Given the description of an element on the screen output the (x, y) to click on. 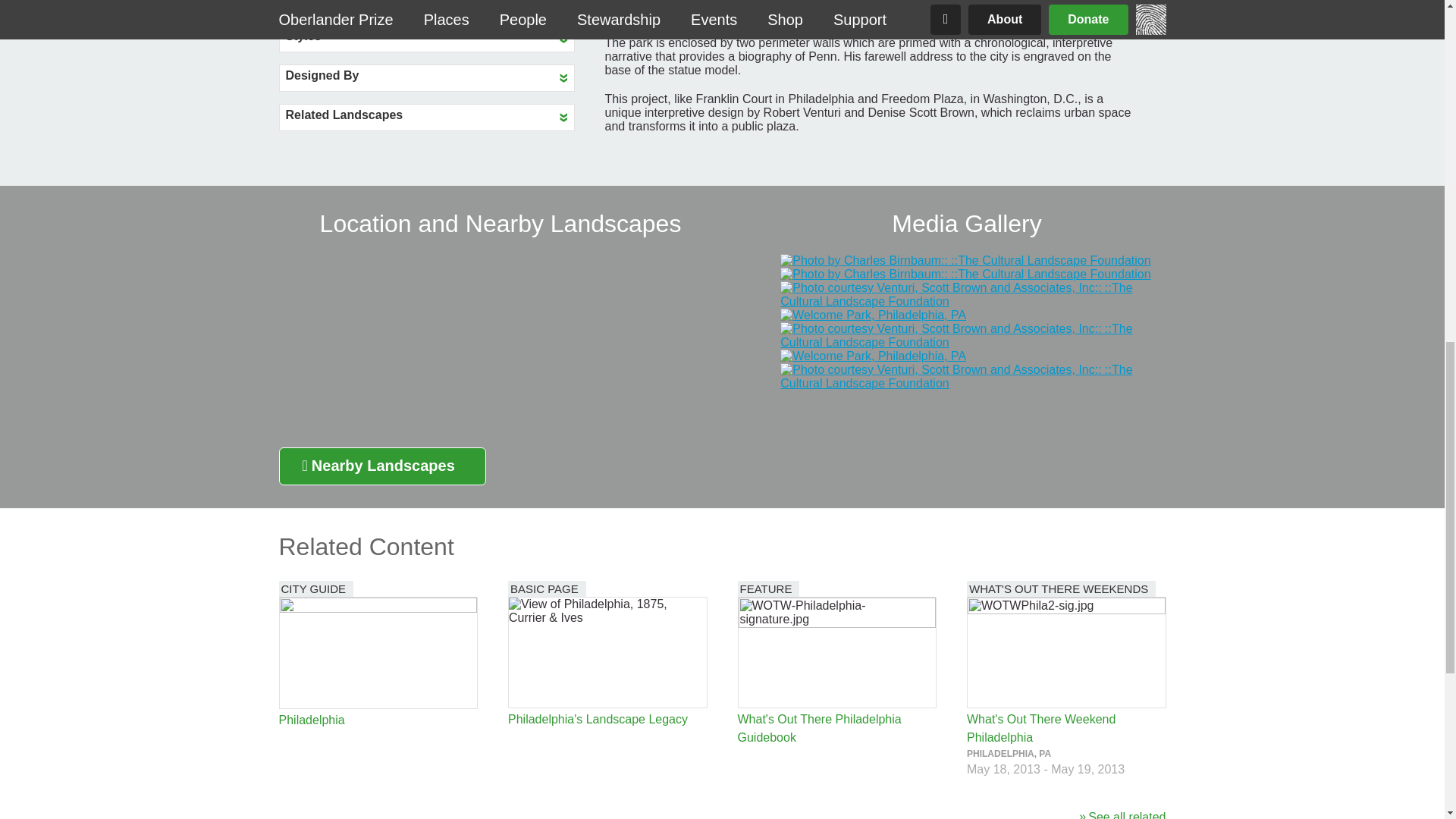
WOTWPhila2-sig.jpg (1067, 652)
WOTW-Philadelphia-signature.jpg (837, 652)
